Given the description of an element on the screen output the (x, y) to click on. 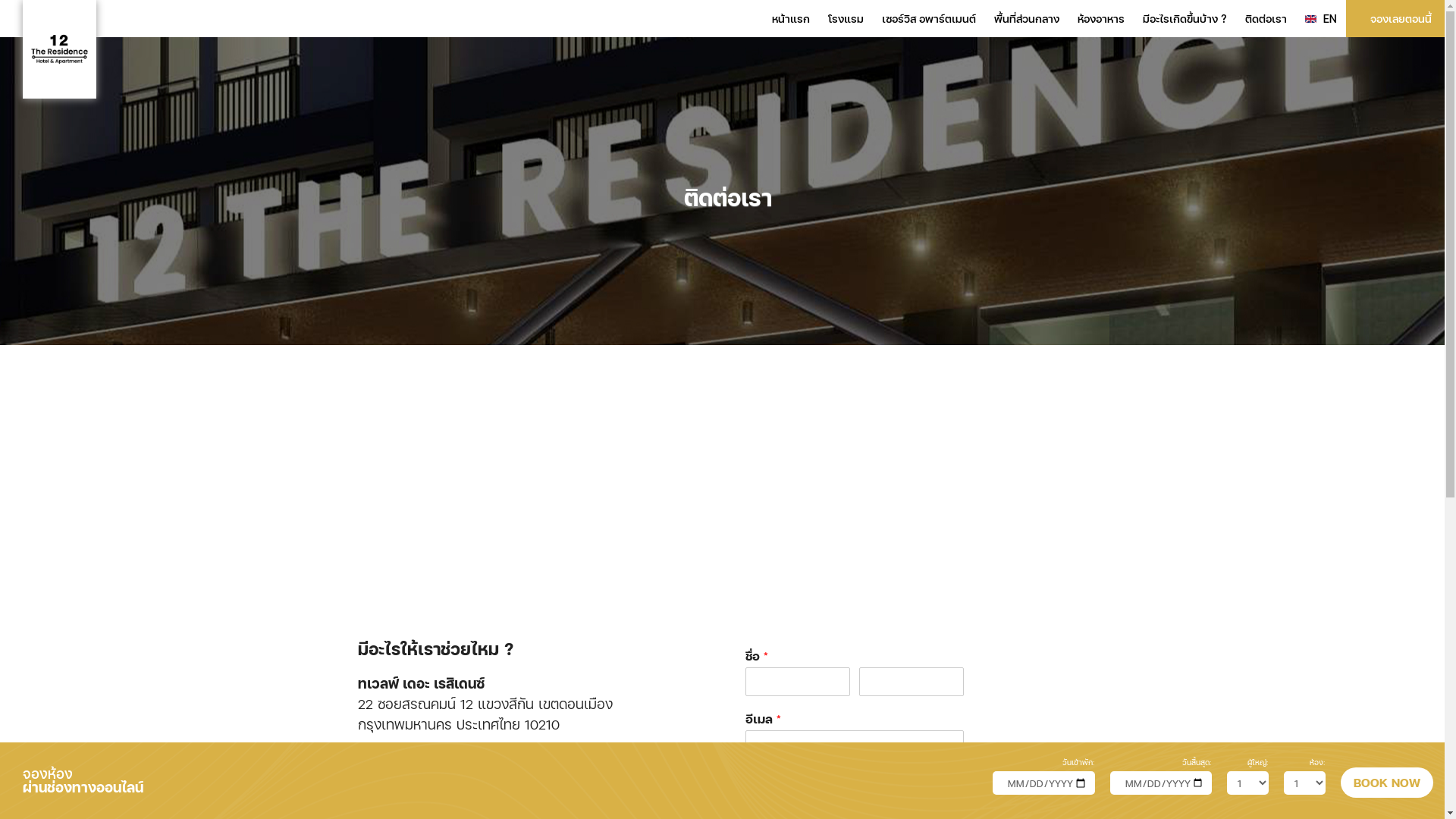
086-845-3333 Element type: text (522, 787)
02-566-3333 Element type: text (415, 787)
RSVN@12THERESIDENCE.COM Element type: text (489, 807)
Book Now Element type: text (1386, 782)
EN Element type: text (1320, 18)
